Given the description of an element on the screen output the (x, y) to click on. 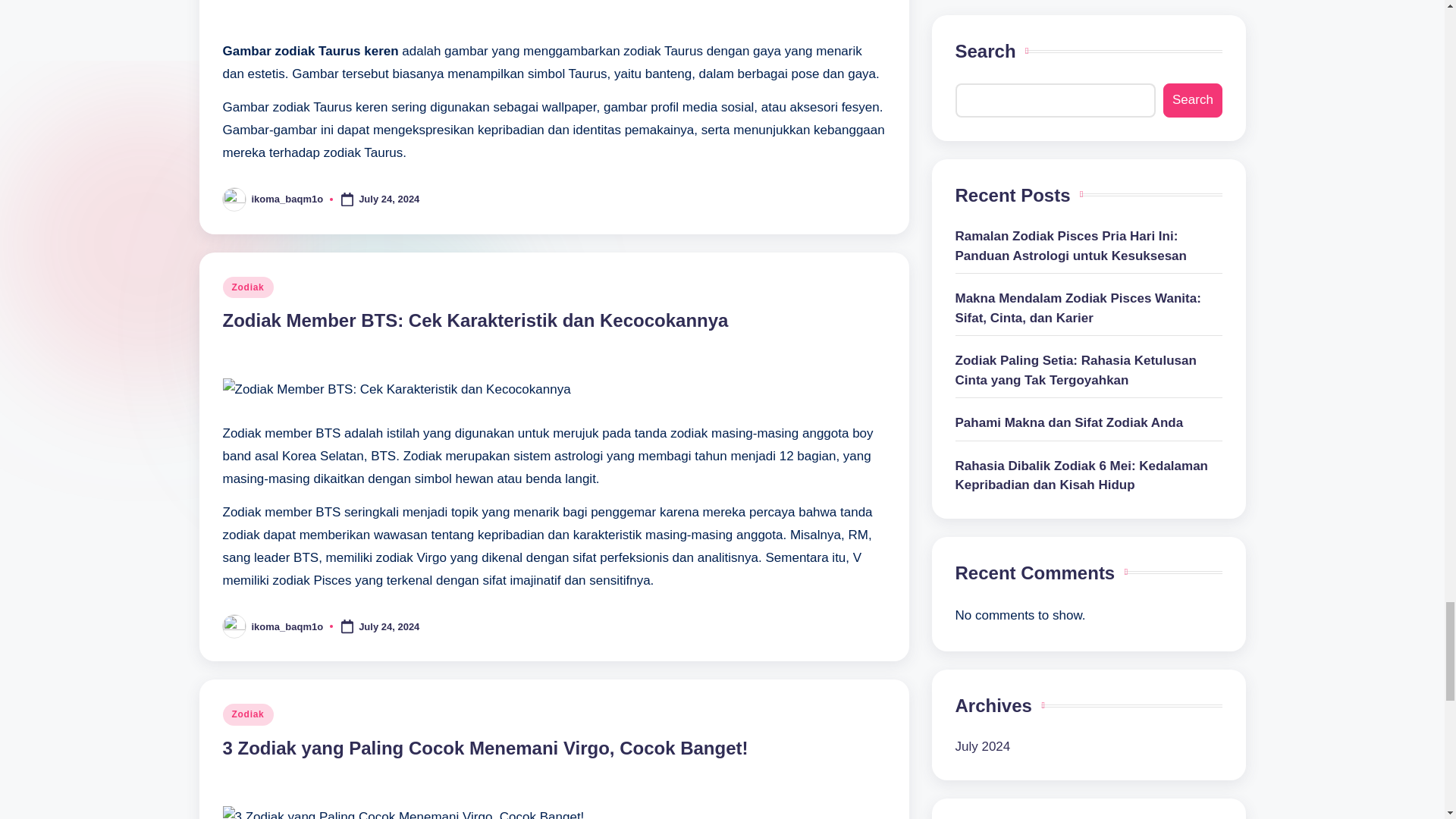
Zodiak Member BTS: Cek Karakteristik dan Kecocokannya (475, 320)
